Given the description of an element on the screen output the (x, y) to click on. 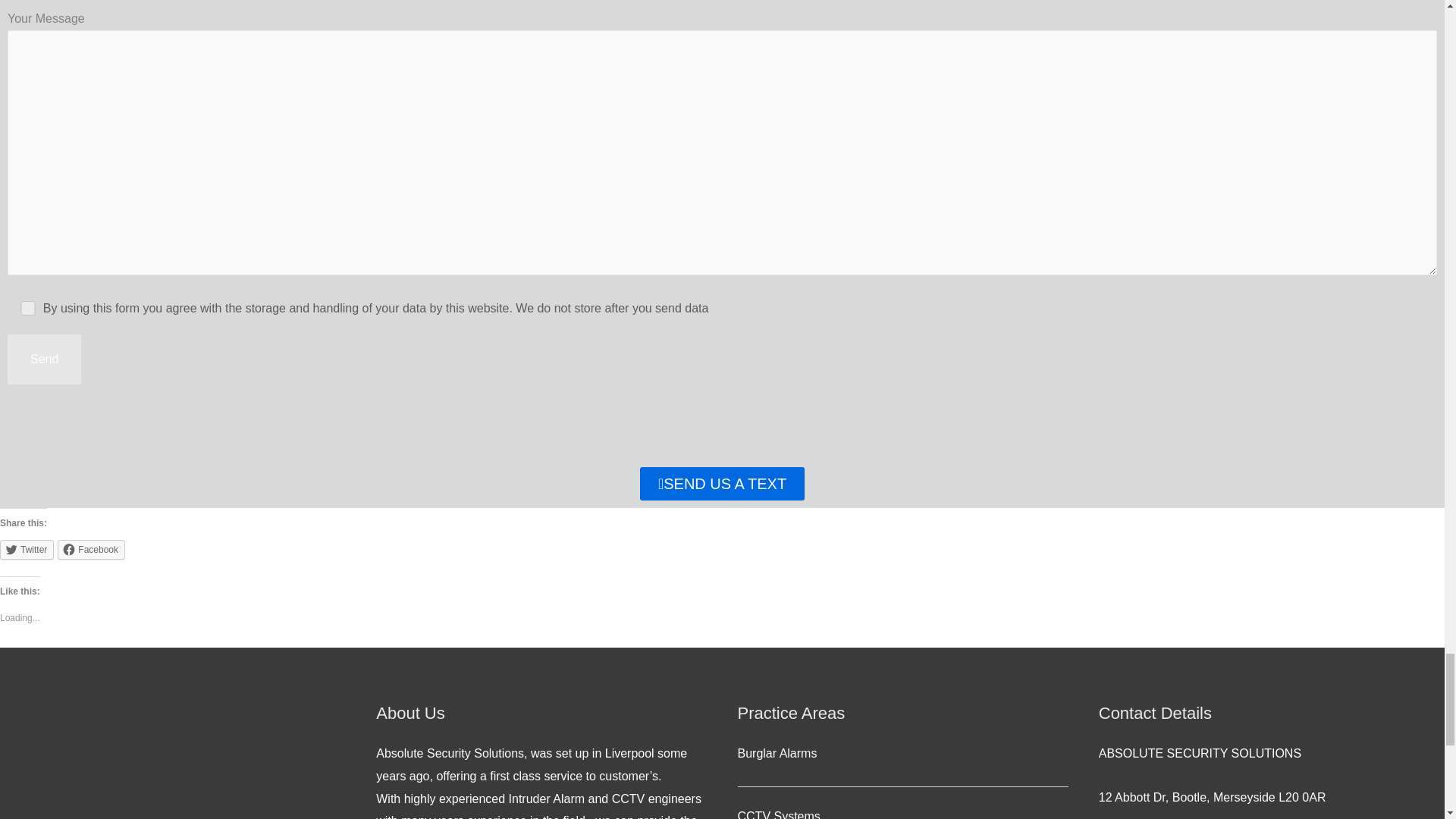
Send (44, 359)
Send (44, 359)
SEND US A TEXT (722, 483)
1 (28, 308)
Click to share on Facebook (91, 549)
Click to share on Twitter (26, 549)
Twitter (26, 549)
Facebook (91, 549)
